Given the description of an element on the screen output the (x, y) to click on. 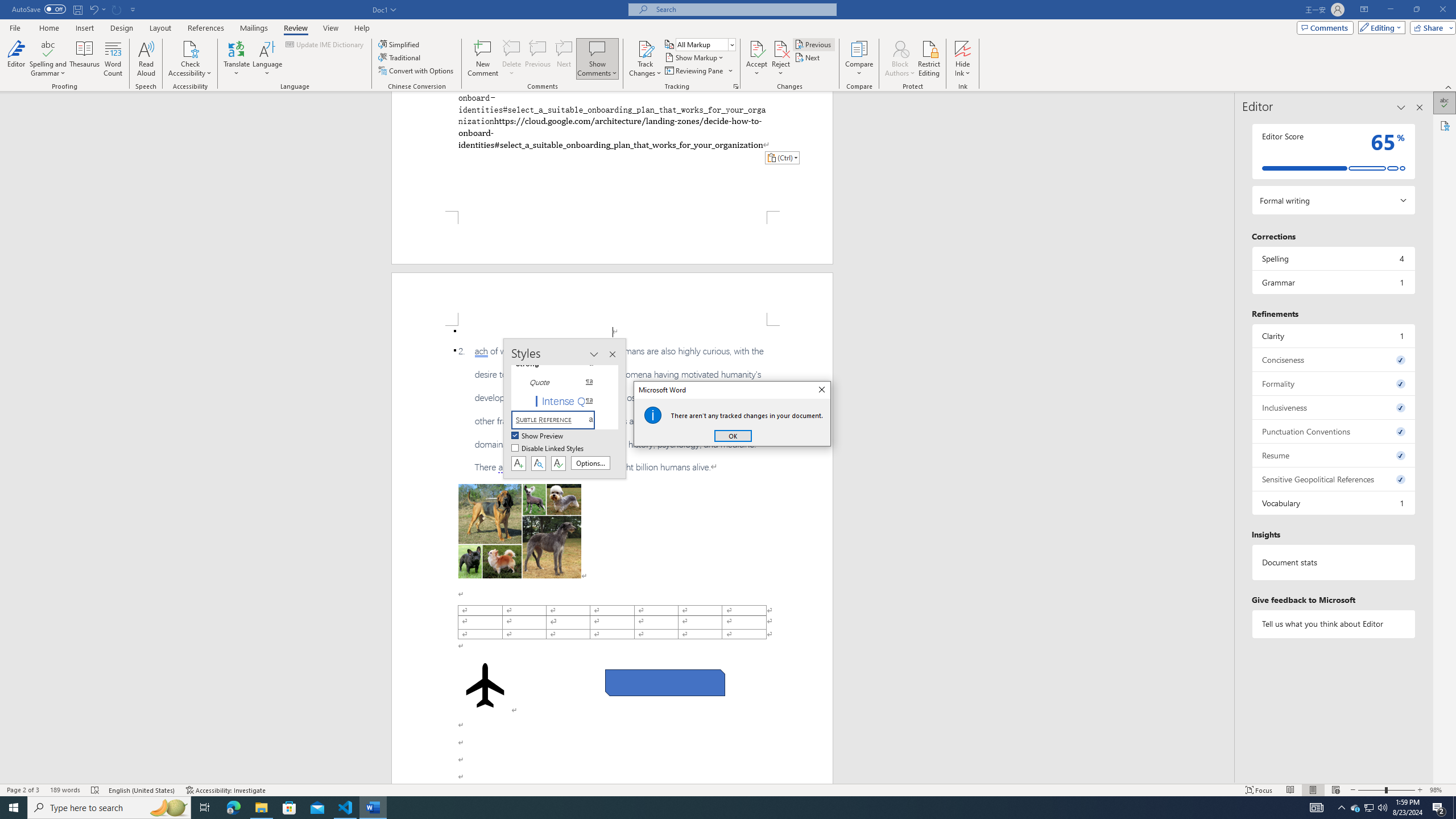
Accept and Move to Next (756, 48)
Language English (United States) (141, 790)
Spelling, 4 issues. Press space or enter to review items. (1333, 258)
Show Comments (597, 48)
Hide Ink (962, 48)
Airplane with solid fill (485, 684)
Undo Paste (96, 9)
Notification Chevron (1341, 807)
Q2790: 100% (1382, 807)
